Given the description of an element on the screen output the (x, y) to click on. 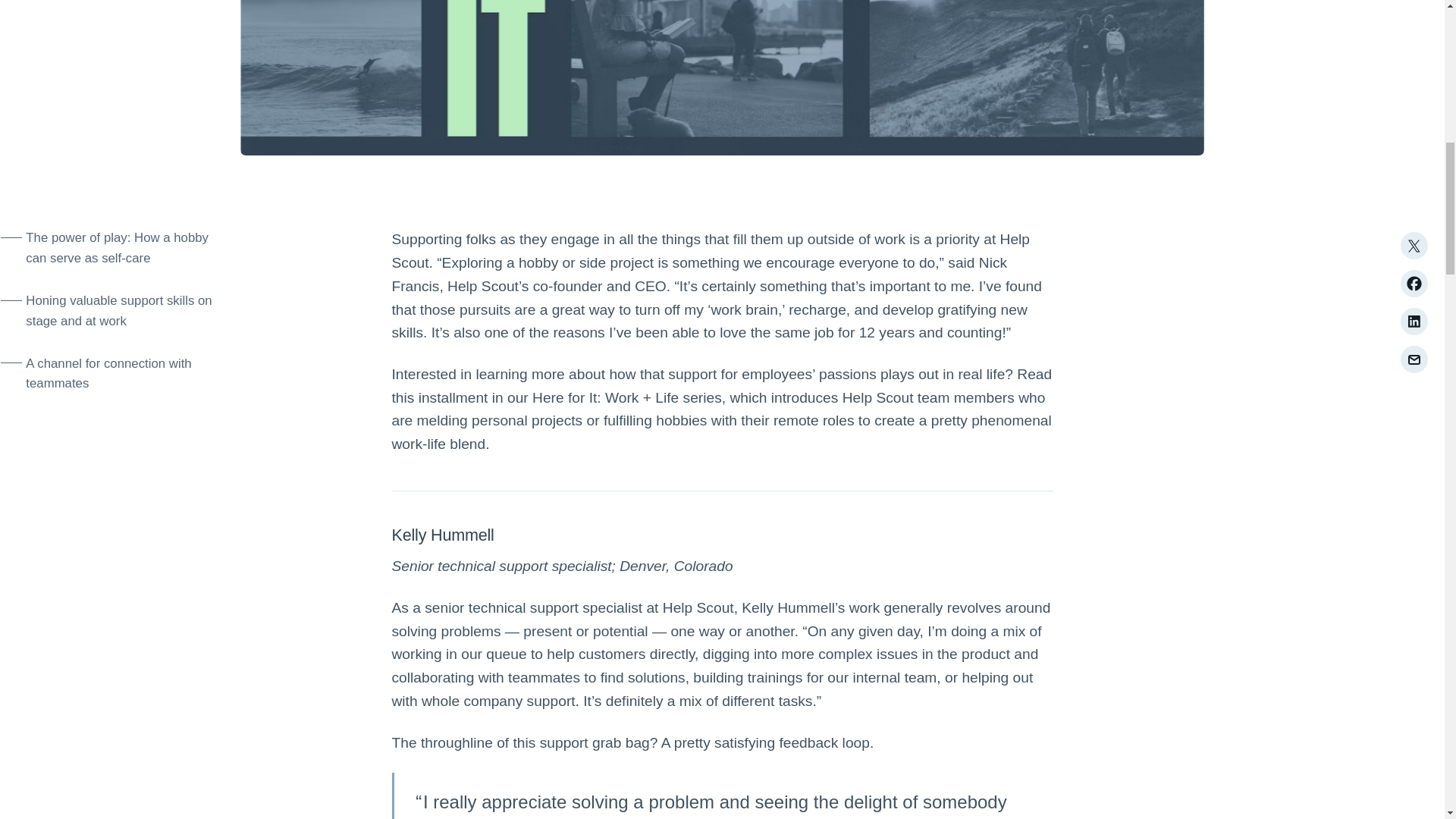
Share via Email (1412, 359)
Share on Twitter (1412, 245)
Share on LinkedIn (1412, 320)
Share on Facebook (1412, 283)
